Given the description of an element on the screen output the (x, y) to click on. 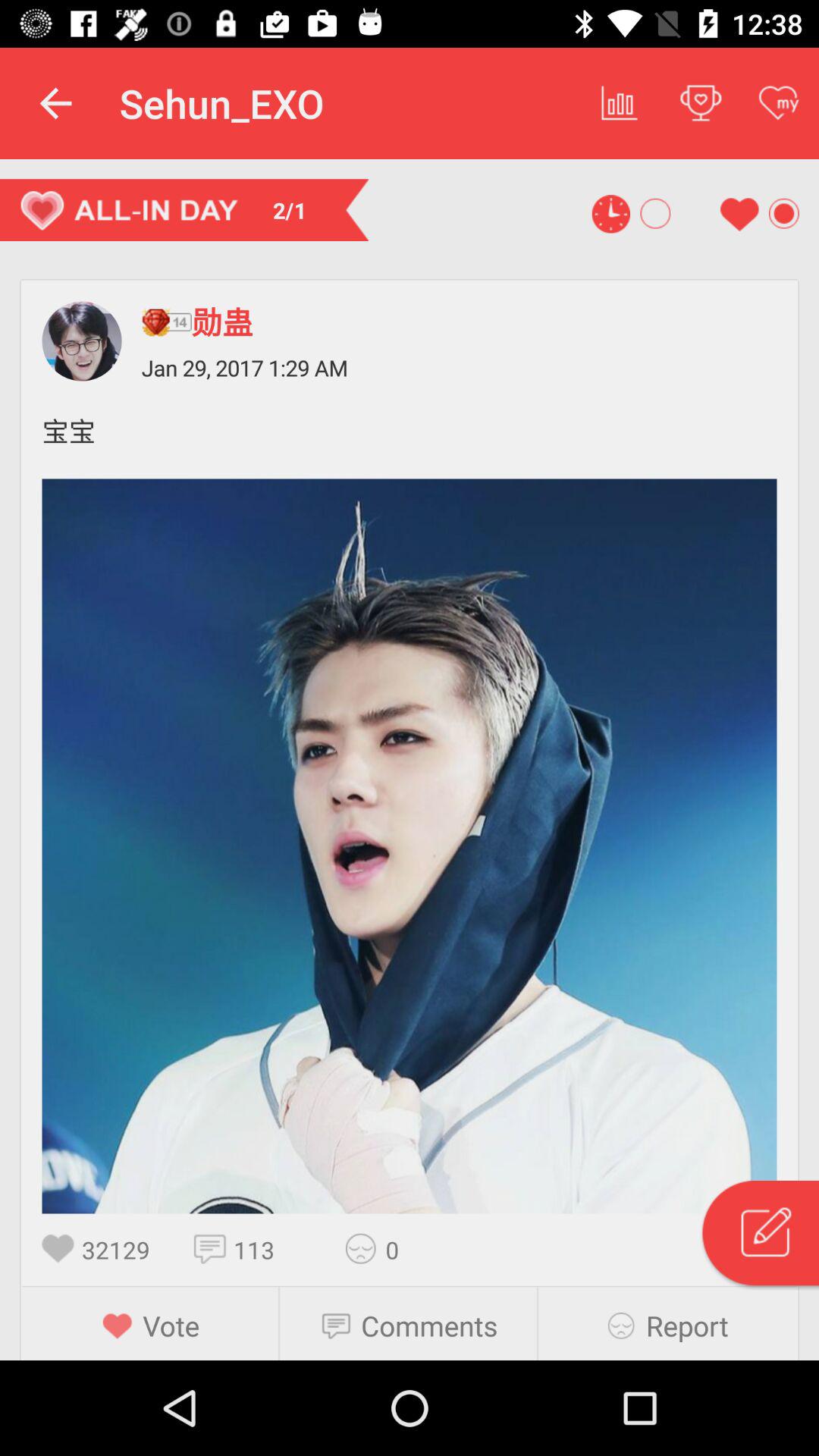
open 32129 icon (122, 1249)
